Given the description of an element on the screen output the (x, y) to click on. 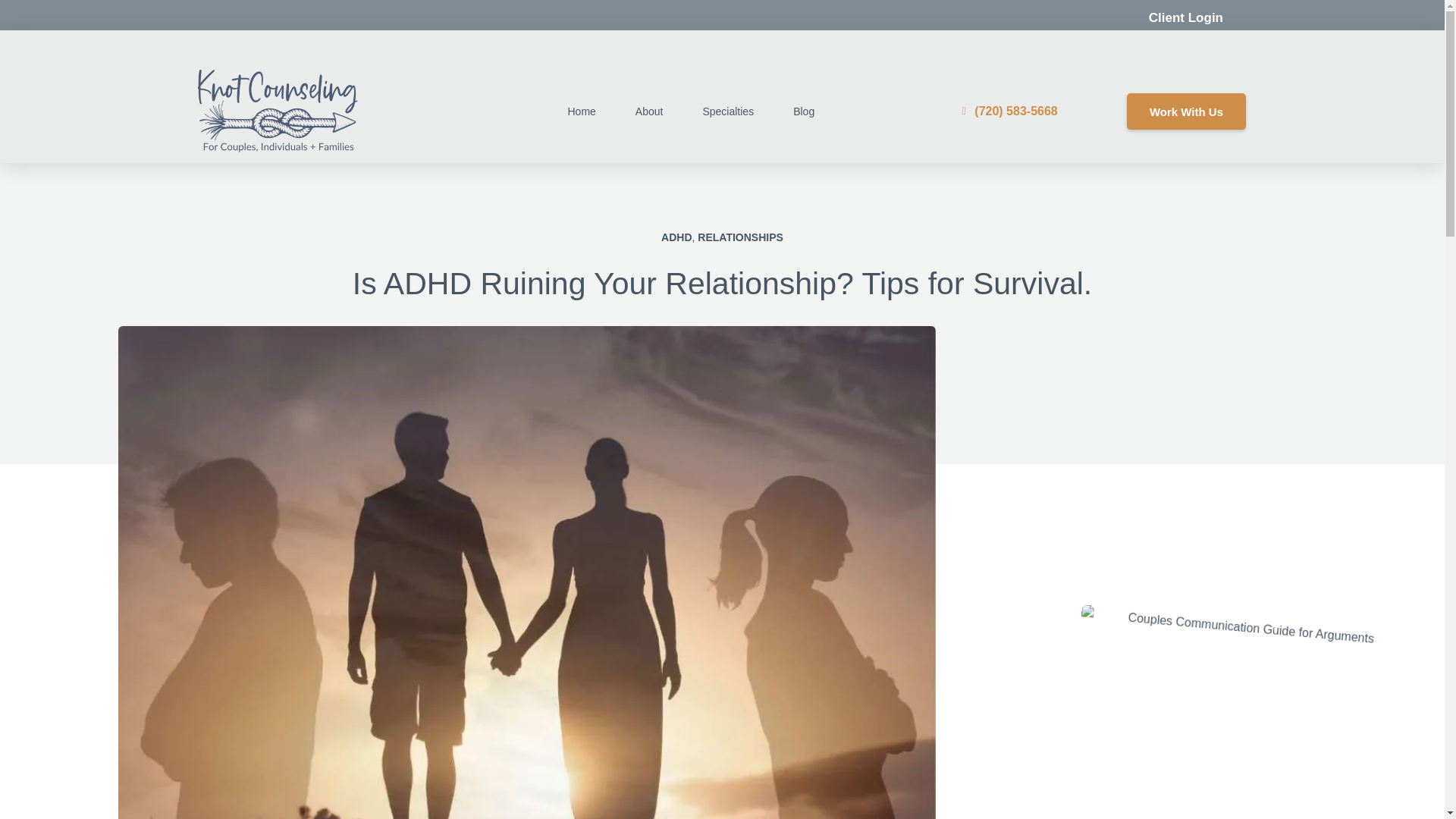
Specialties (727, 110)
About (649, 110)
Home (581, 110)
Client Login (1185, 17)
RELATIONSHIPS (740, 236)
Work With Us (1186, 111)
Blog (803, 110)
ADHD (676, 236)
